Given the description of an element on the screen output the (x, y) to click on. 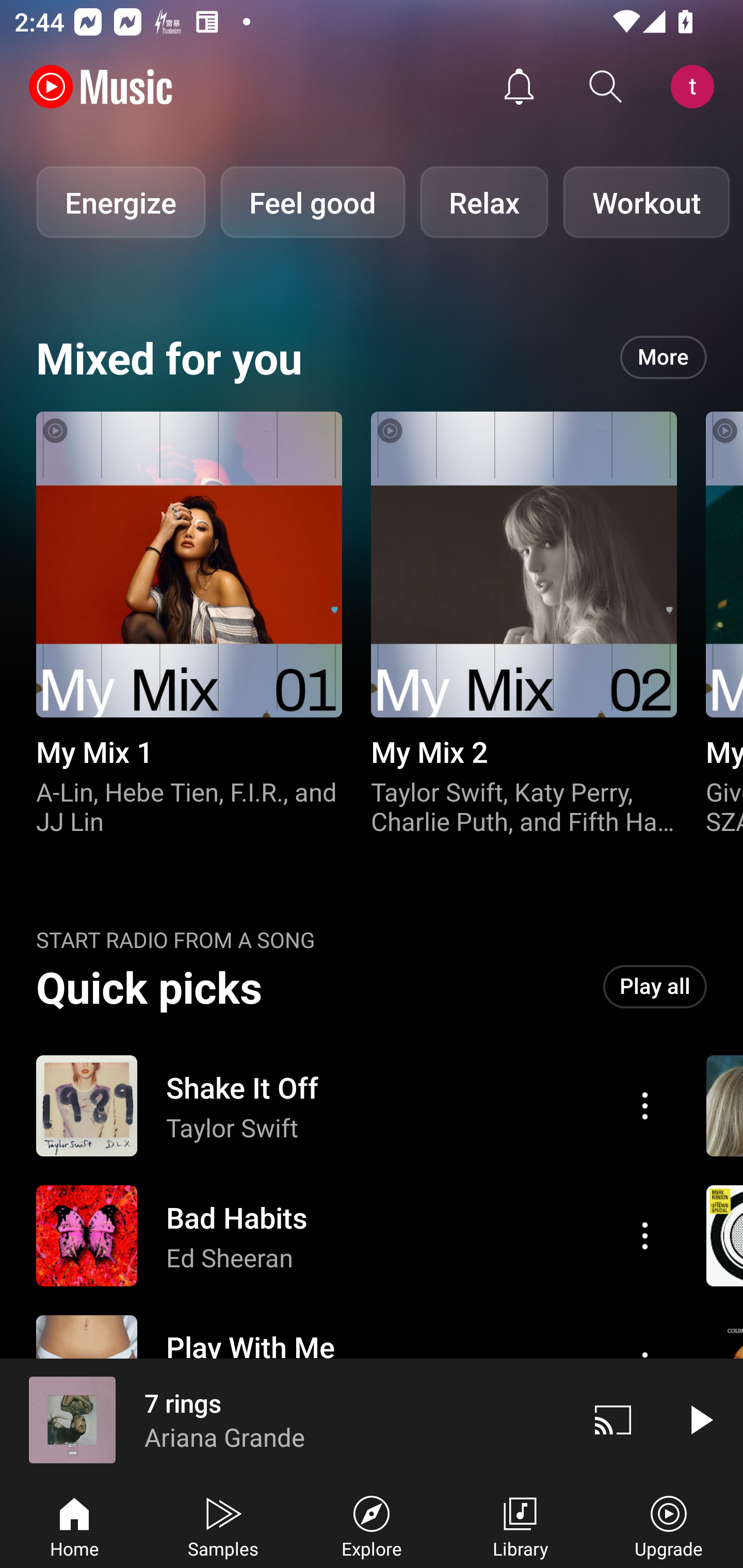
Activity feed (518, 86)
Search (605, 86)
Account (696, 86)
Action menu (349, 1106)
Action menu (644, 1106)
Action menu (349, 1236)
Action menu (644, 1235)
7 rings Ariana Grande (284, 1419)
Cast. Disconnected (612, 1419)
Play video (699, 1419)
Home (74, 1524)
Samples (222, 1524)
Explore (371, 1524)
Library (519, 1524)
Upgrade (668, 1524)
